Given the description of an element on the screen output the (x, y) to click on. 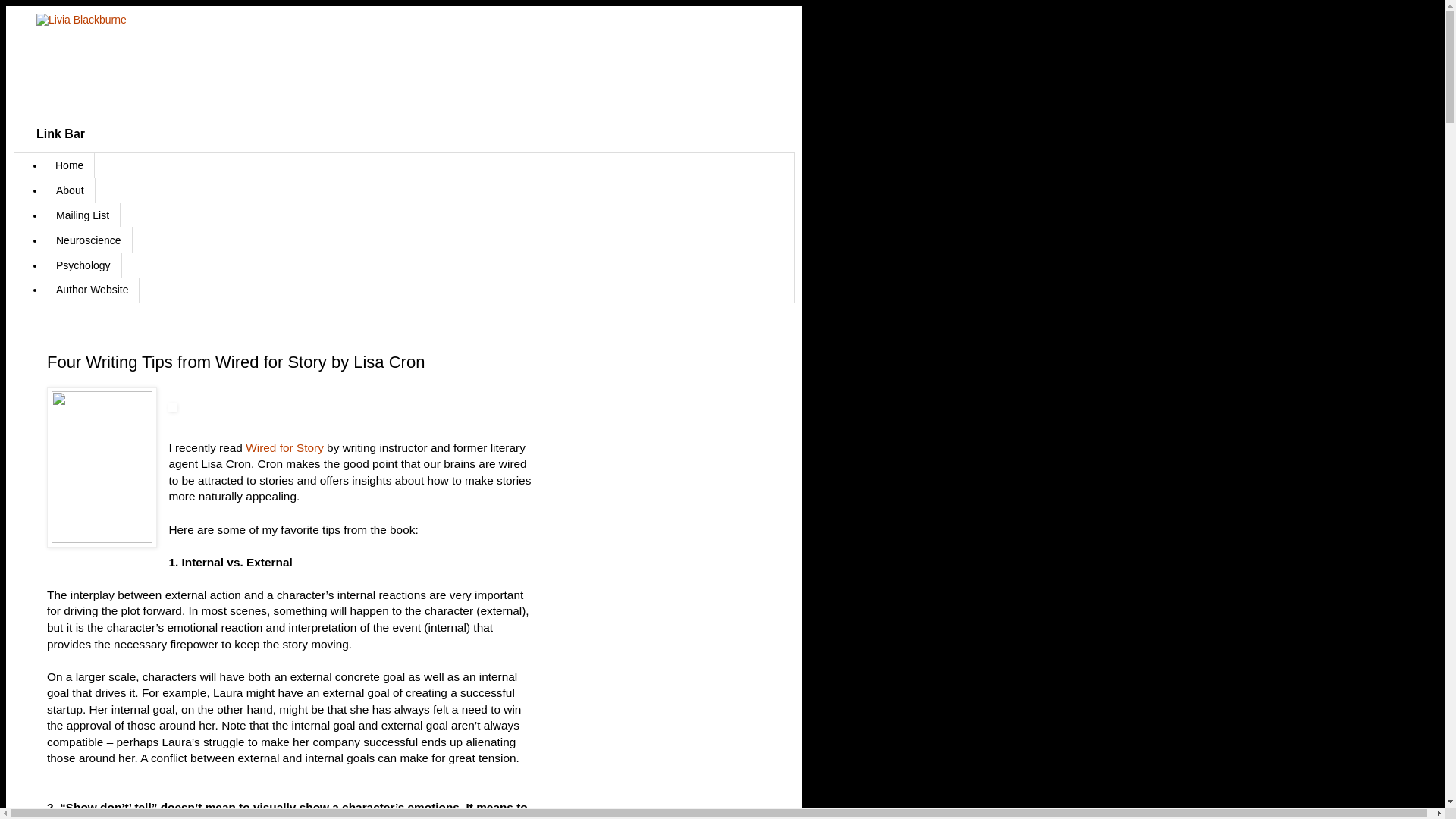
About (70, 190)
Mailing List (82, 215)
Neuroscience (88, 239)
Psychology (83, 264)
Wired for Story (284, 447)
Home (69, 165)
Author Website (92, 289)
